Given the description of an element on the screen output the (x, y) to click on. 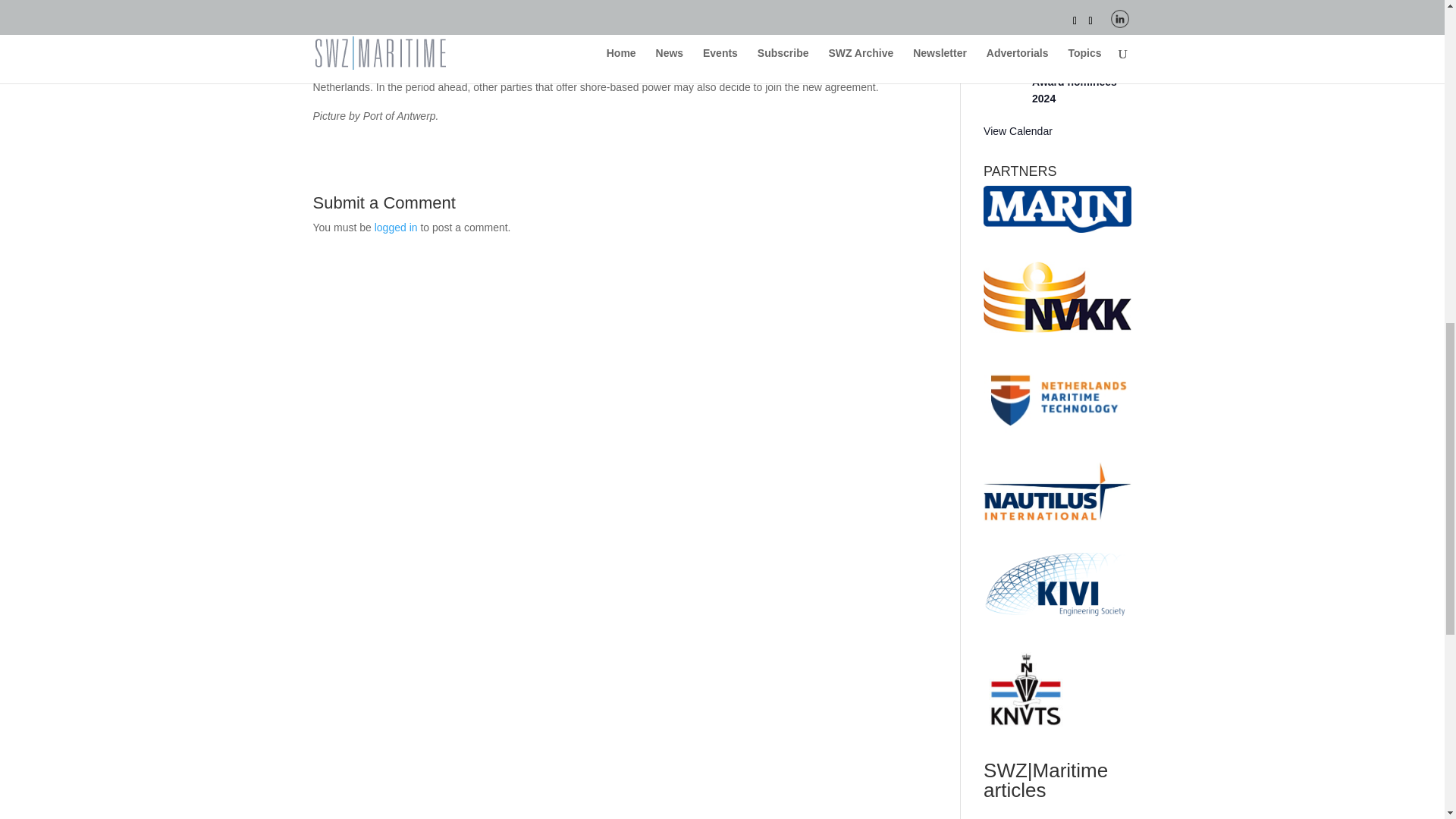
KNVTS lecture: The Ship of the Year Award nominees 2024 (1081, 72)
KNVTS lecture: The Ship of the Year Award nominees 2024 (1081, 72)
View Calendar (1018, 131)
Human Factors 2024 Conference (1074, 4)
View more events. (1018, 131)
logged in (395, 227)
Human Factors 2024 Conference (1074, 4)
PARTNERS (1057, 209)
